Given the description of an element on the screen output the (x, y) to click on. 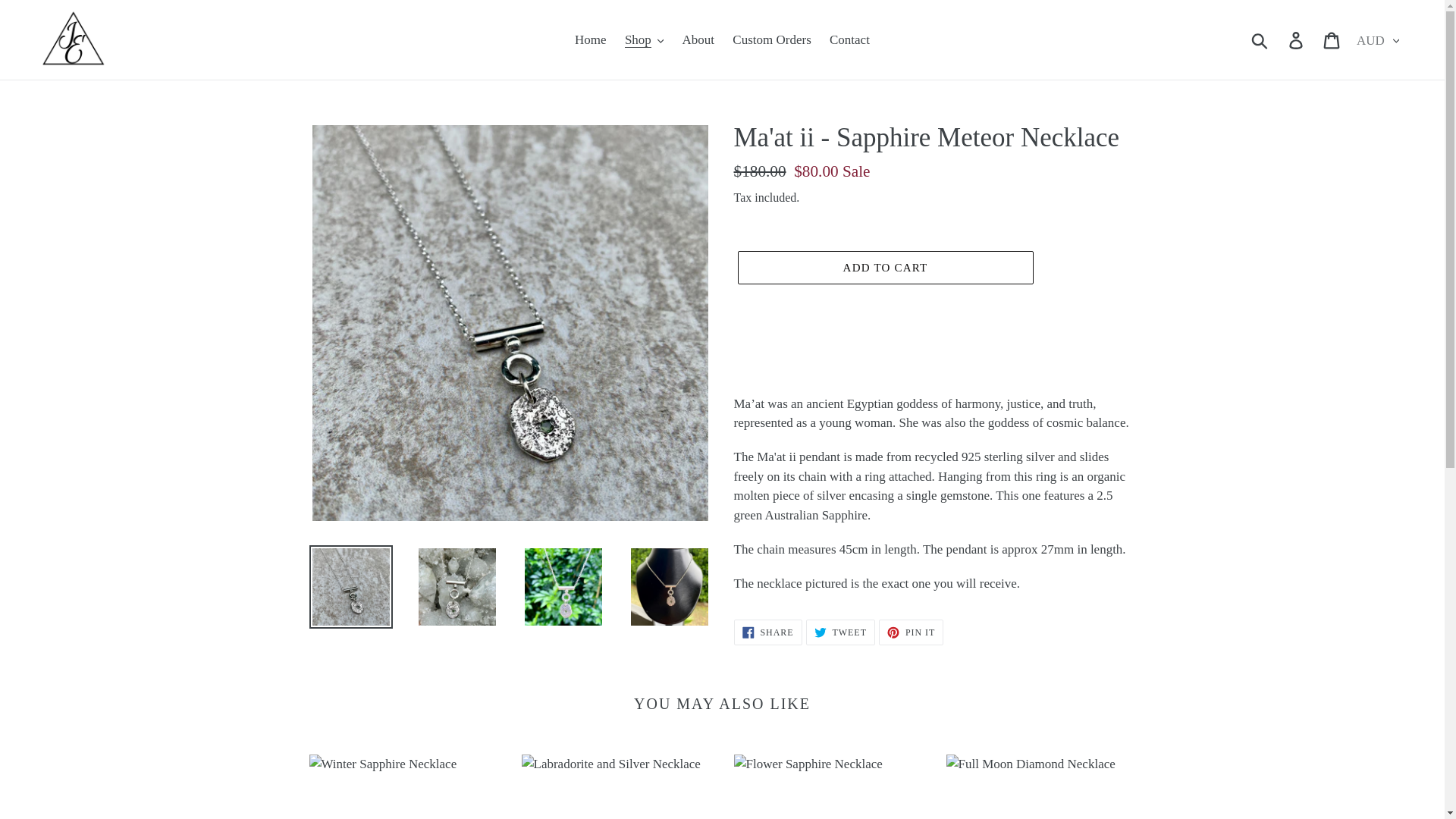
Home (590, 39)
Contact (849, 39)
Cart (1332, 39)
ADD TO CART (884, 267)
Custom Orders (771, 39)
About (698, 39)
Submit (1260, 39)
Log in (1296, 39)
